Given the description of an element on the screen output the (x, y) to click on. 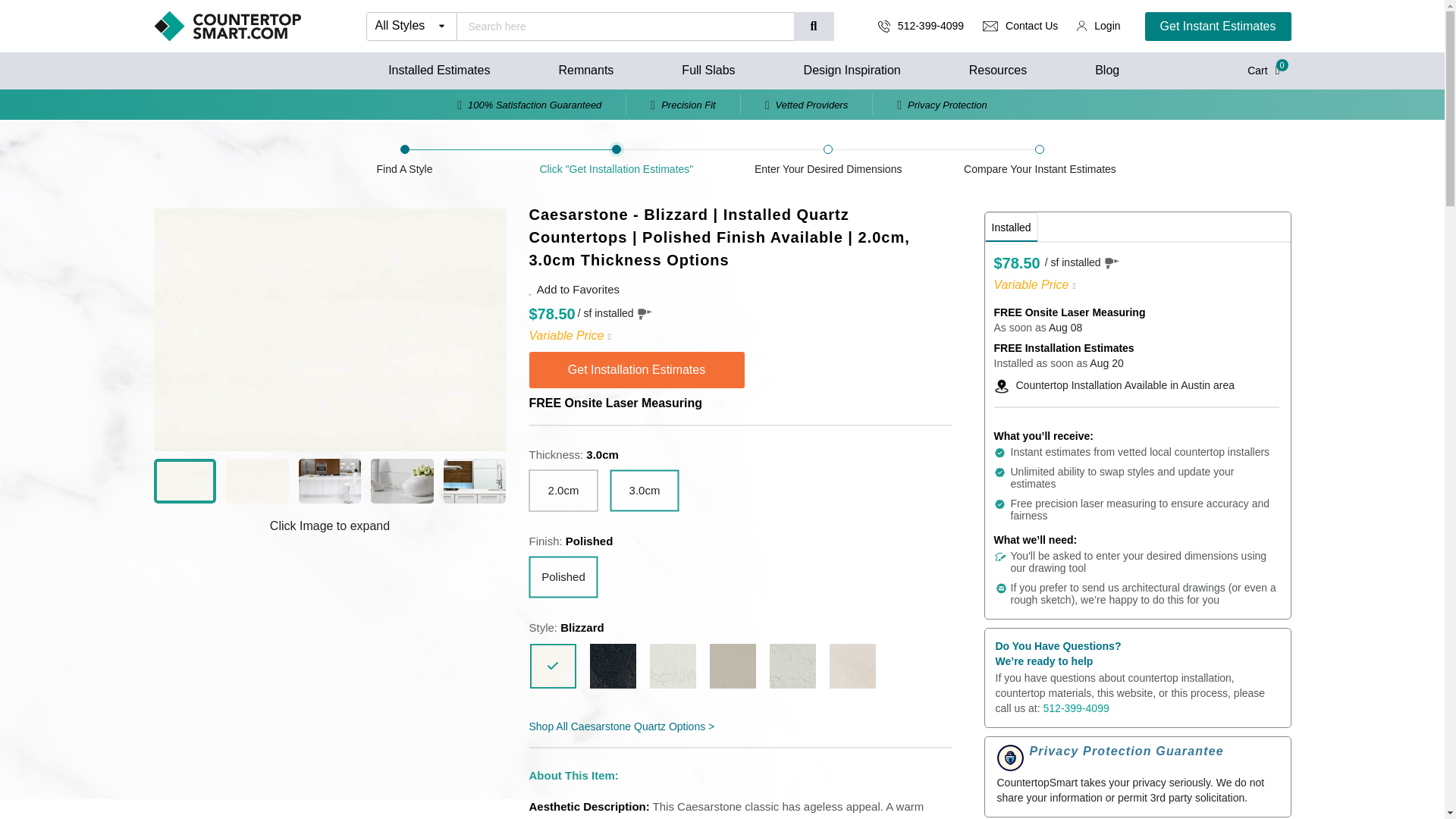
Caesarstone - Calacatta Nuvo (672, 665)
Caesarstone - Darcrest (612, 665)
512-399-4099 (930, 25)
Caesarstone - Adamina (852, 665)
Resources (997, 69)
Get Instant Estimates (1217, 26)
Installed Estimates (438, 69)
Full Slabs (708, 69)
Remnants (584, 69)
Caesarstone - Stoneburst (732, 665)
